Given the description of an element on the screen output the (x, y) to click on. 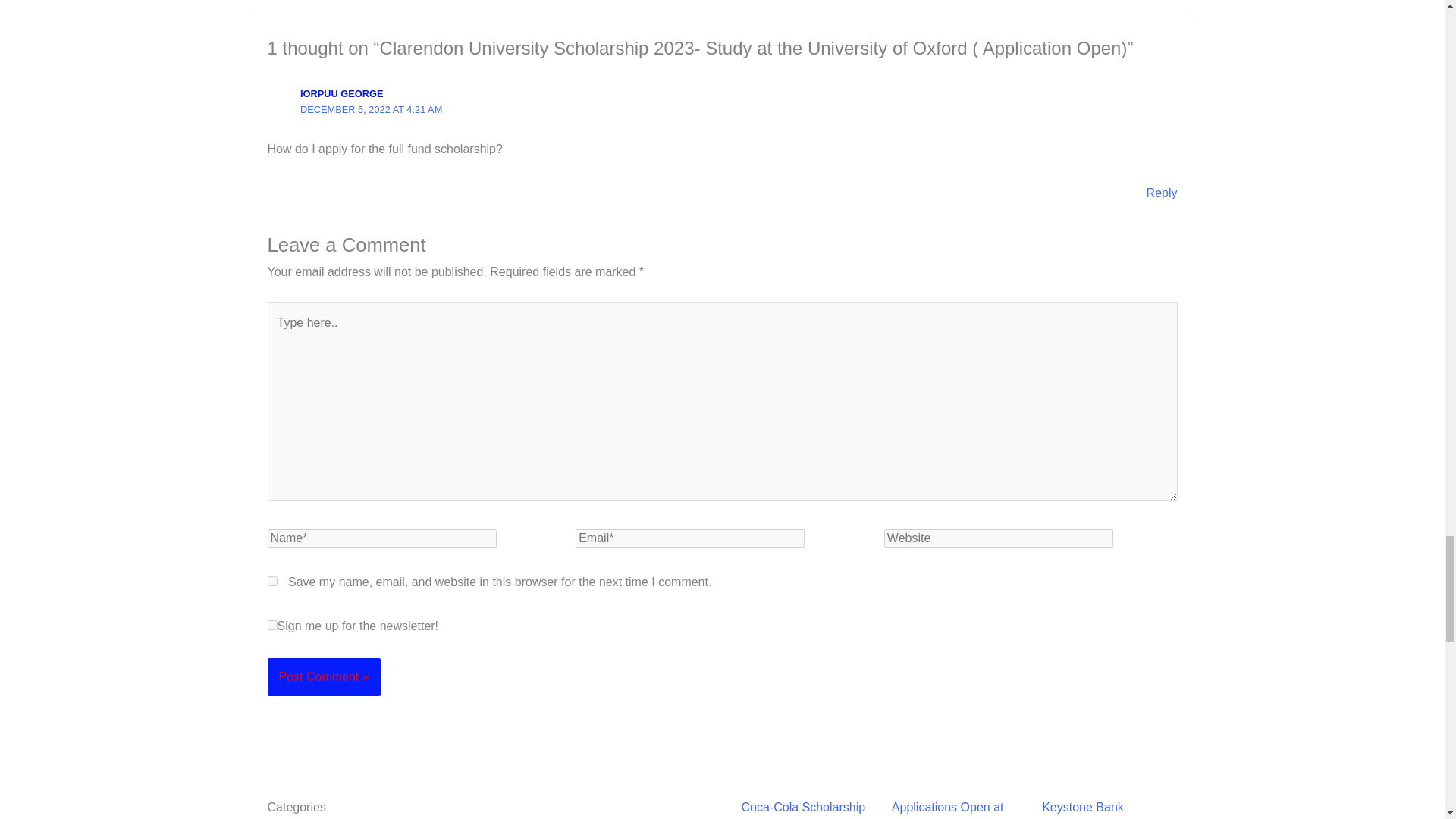
1 (271, 624)
yes (271, 581)
